Given the description of an element on the screen output the (x, y) to click on. 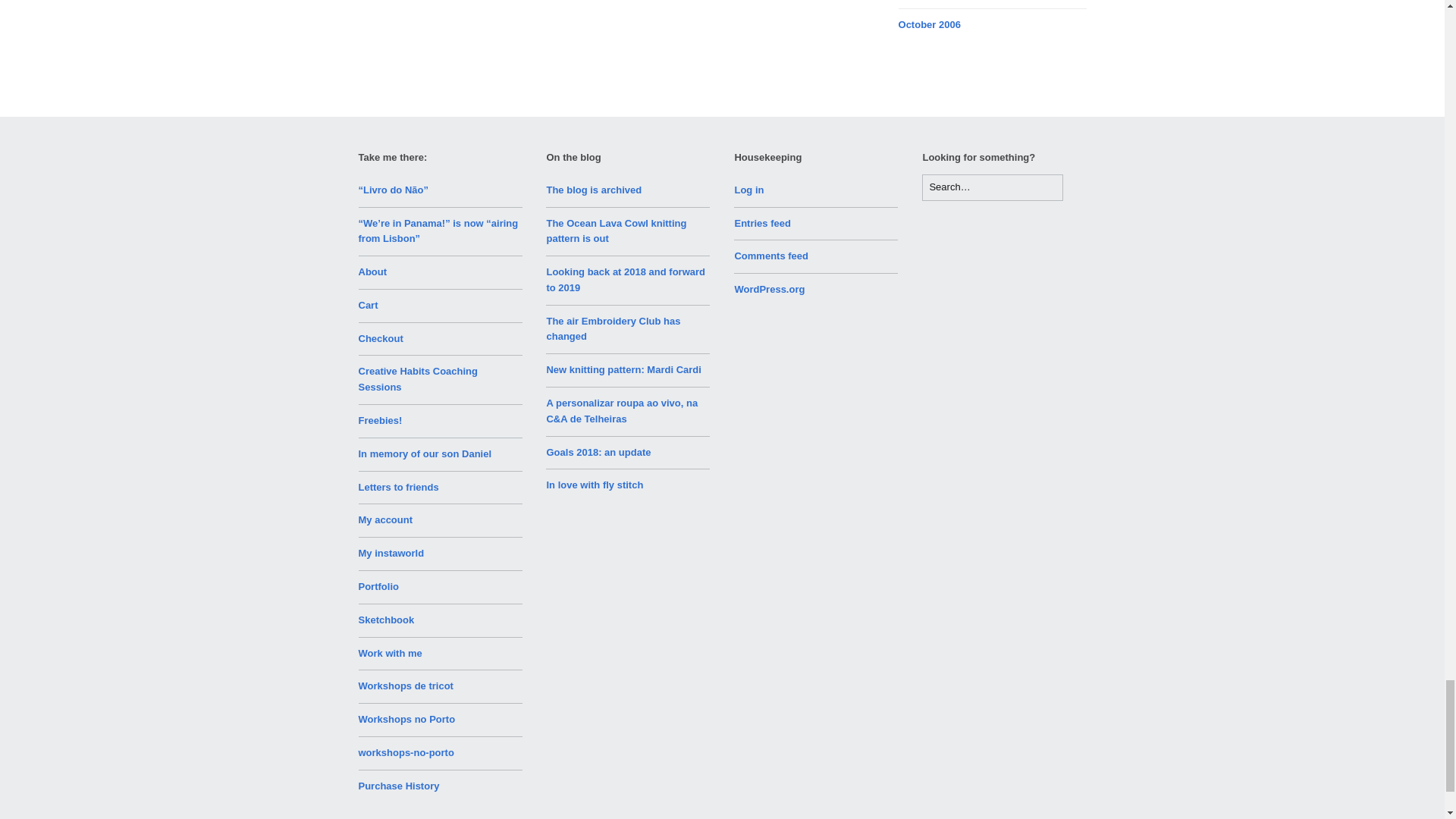
Press Enter to submit your search (991, 187)
